Given the description of an element on the screen output the (x, y) to click on. 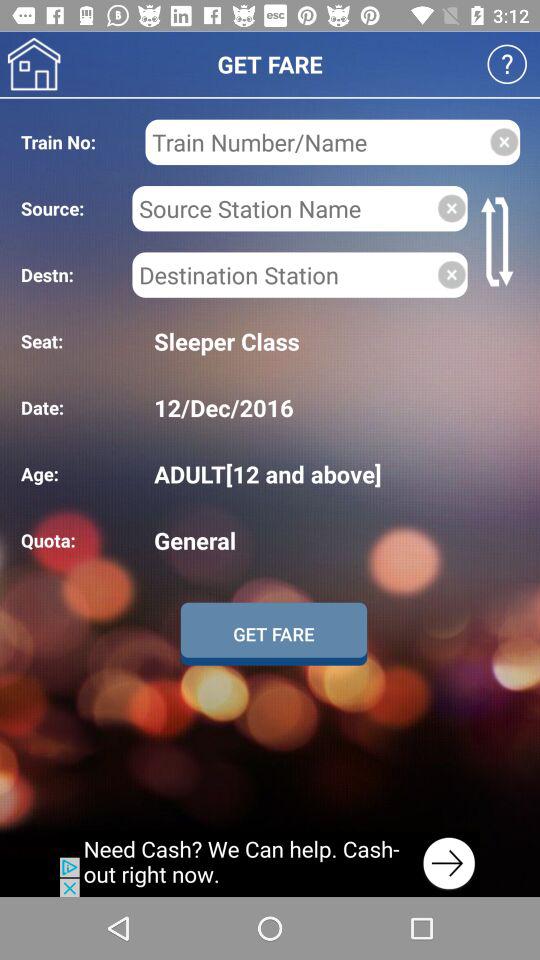
advertisement (270, 864)
